Given the description of an element on the screen output the (x, y) to click on. 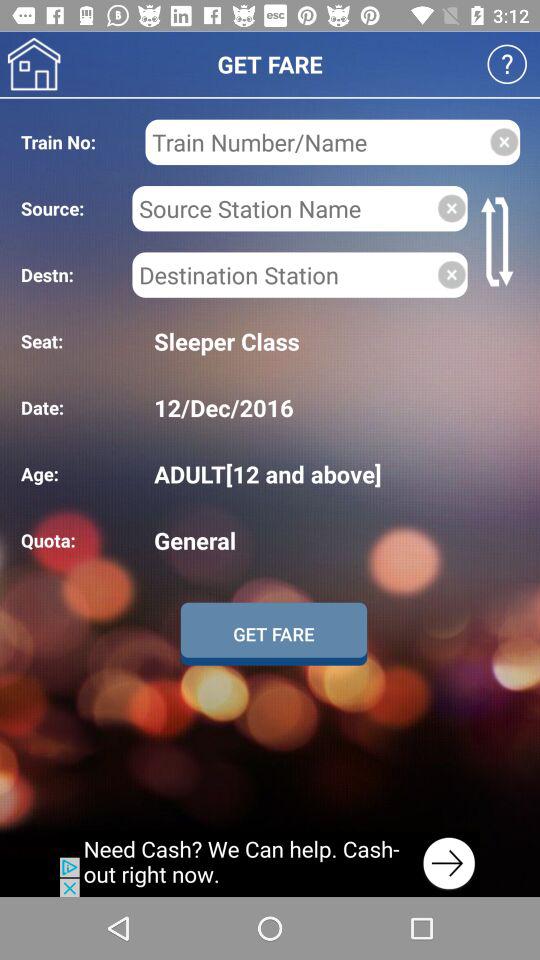
advertisement (270, 864)
